Given the description of an element on the screen output the (x, y) to click on. 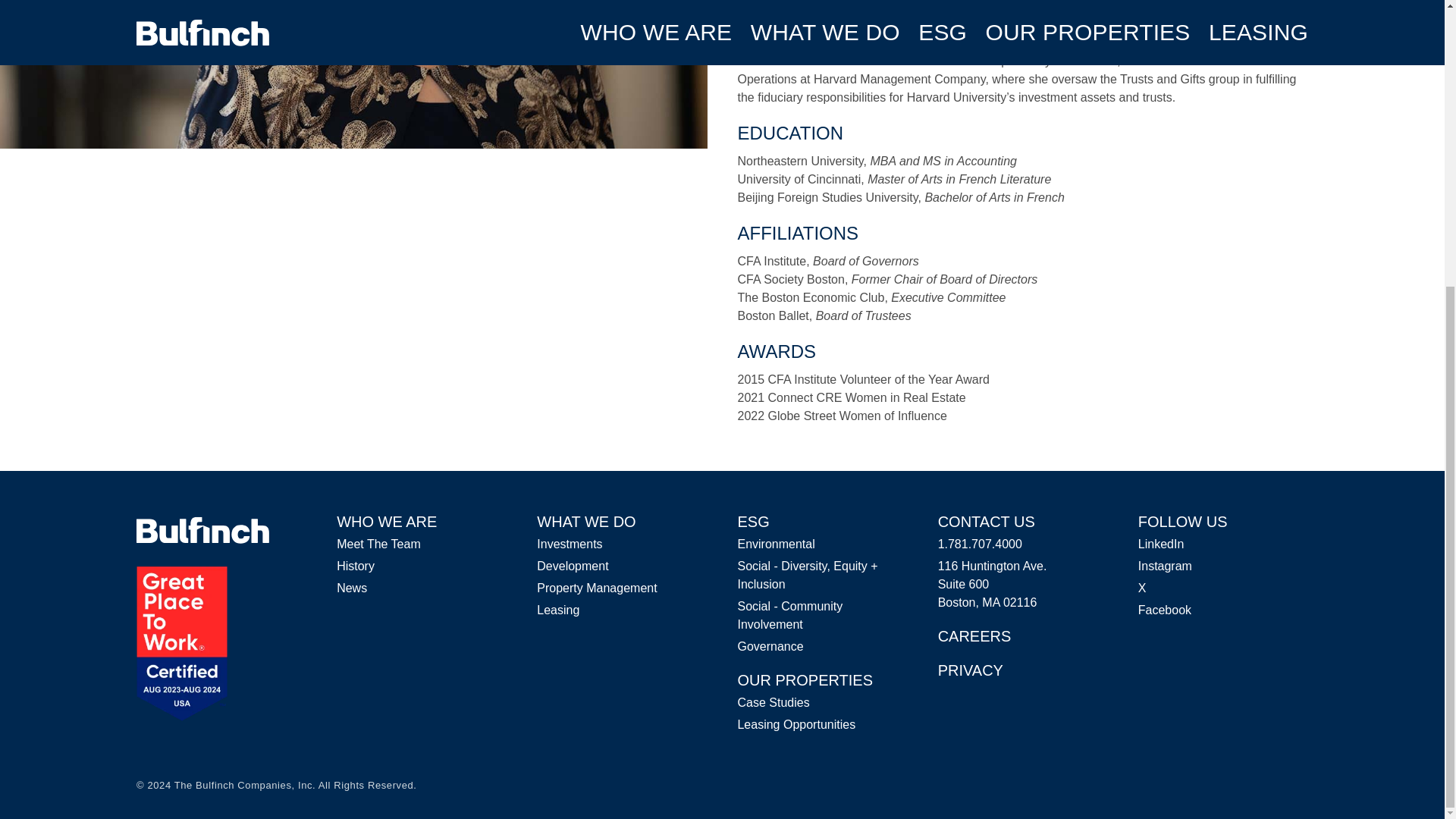
LinkedIn (1161, 543)
News (351, 587)
Meet The Team (378, 543)
Governance (769, 645)
WHO WE ARE (386, 521)
CAREERS (974, 636)
Property Management (596, 587)
Development (572, 565)
Instagram (1165, 565)
Leasing (558, 609)
